Given the description of an element on the screen output the (x, y) to click on. 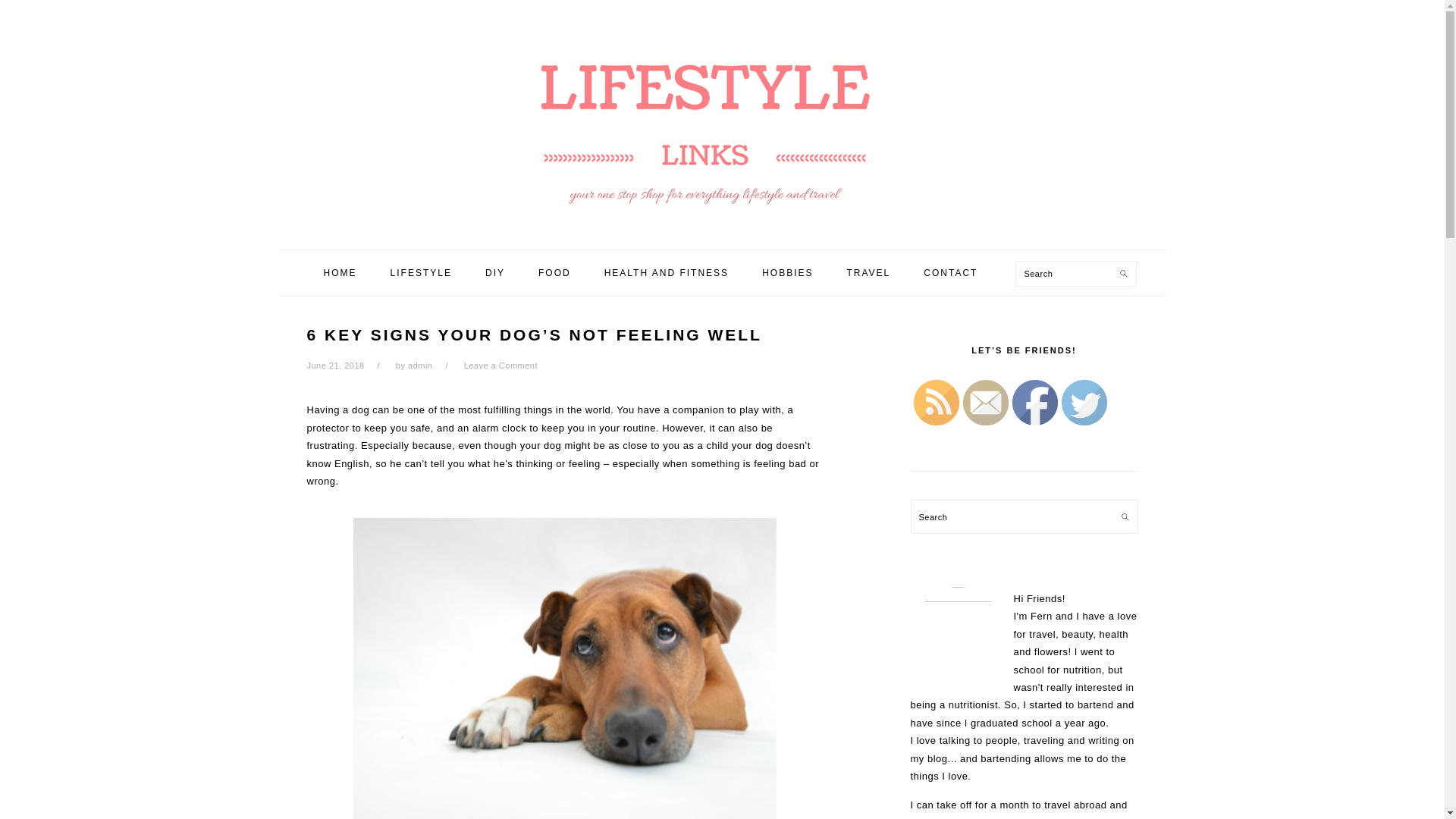
Leave a Comment (500, 365)
TRAVEL (867, 272)
Facebook (1034, 402)
HEALTH AND FITNESS (666, 272)
HOBBIES (786, 272)
FOOD (554, 272)
HOME (339, 272)
Follow by Email (985, 402)
Twitter (1083, 402)
